Given the description of an element on the screen output the (x, y) to click on. 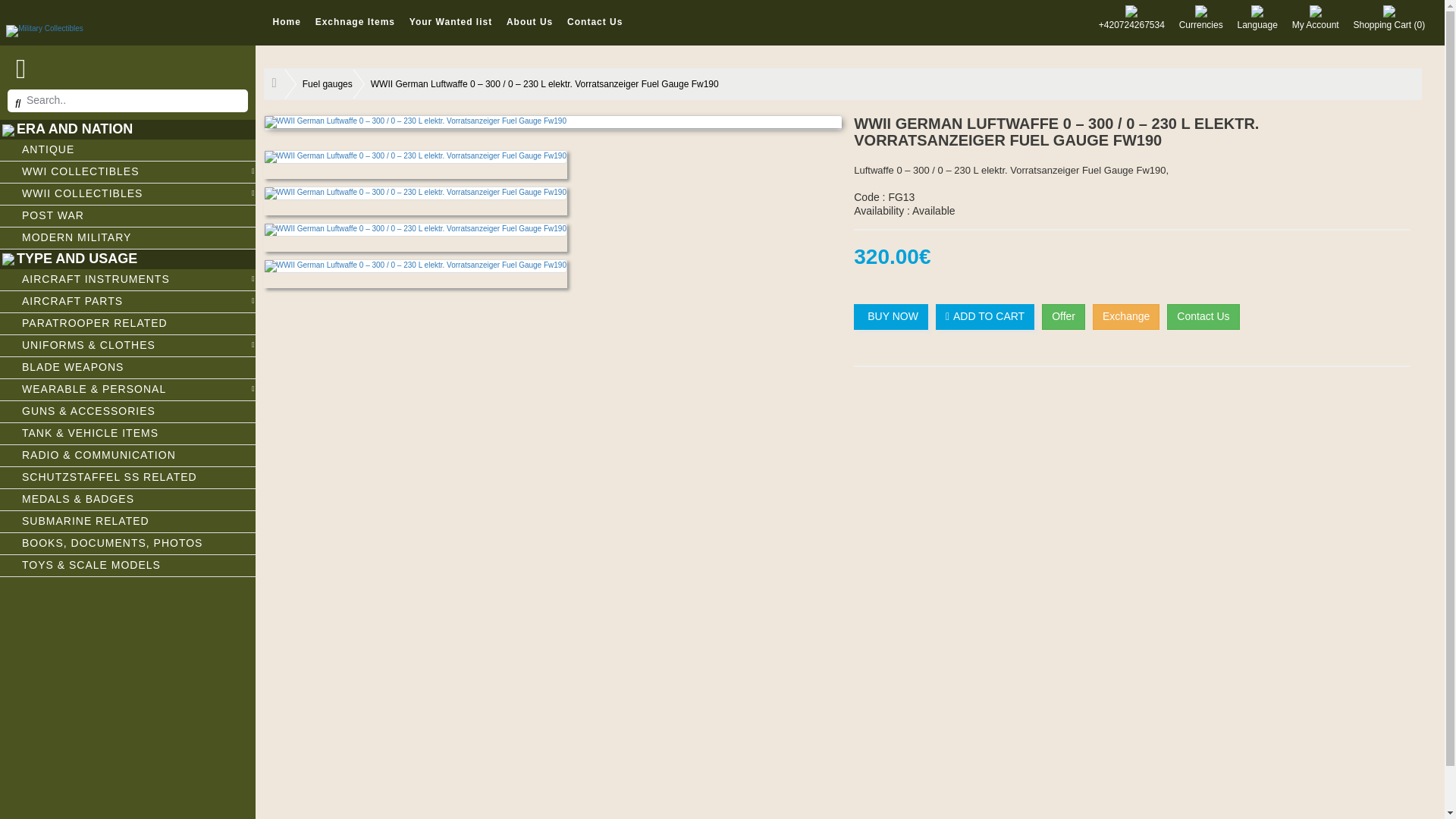
Military Collectibles (126, 32)
ANTIQUE (128, 150)
Exchnage Items (354, 21)
Search (13, 6)
Contact Us (594, 21)
POST WAR (128, 216)
MODERN MILITARY (128, 238)
About Us (529, 21)
Language (1256, 16)
WWII COLLECTIBLES (128, 194)
